Given the description of an element on the screen output the (x, y) to click on. 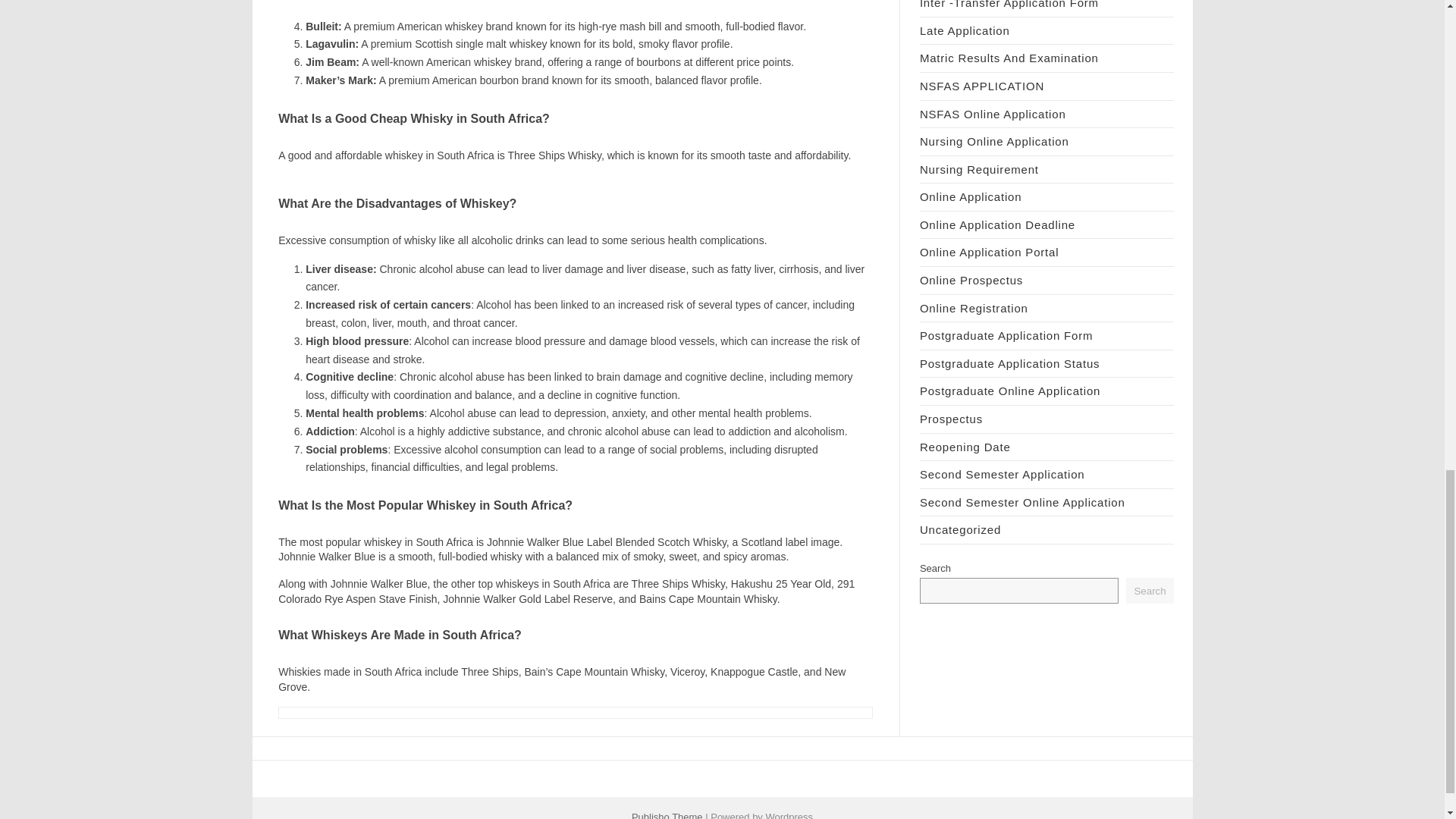
Inter -Transfer Application Form (1009, 4)
Late Application (965, 30)
